Given the description of an element on the screen output the (x, y) to click on. 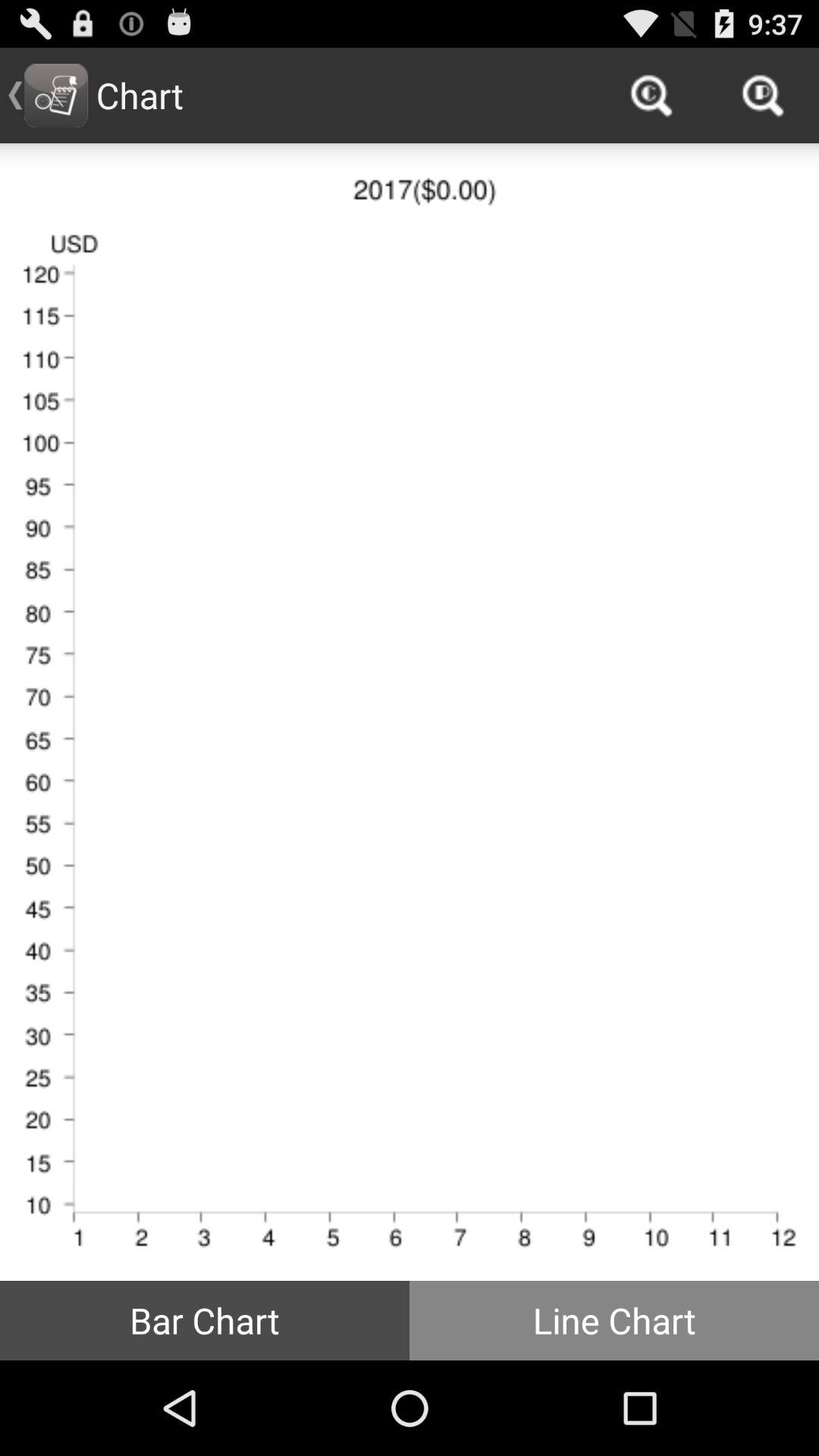
swipe until the line chart icon (614, 1320)
